Given the description of an element on the screen output the (x, y) to click on. 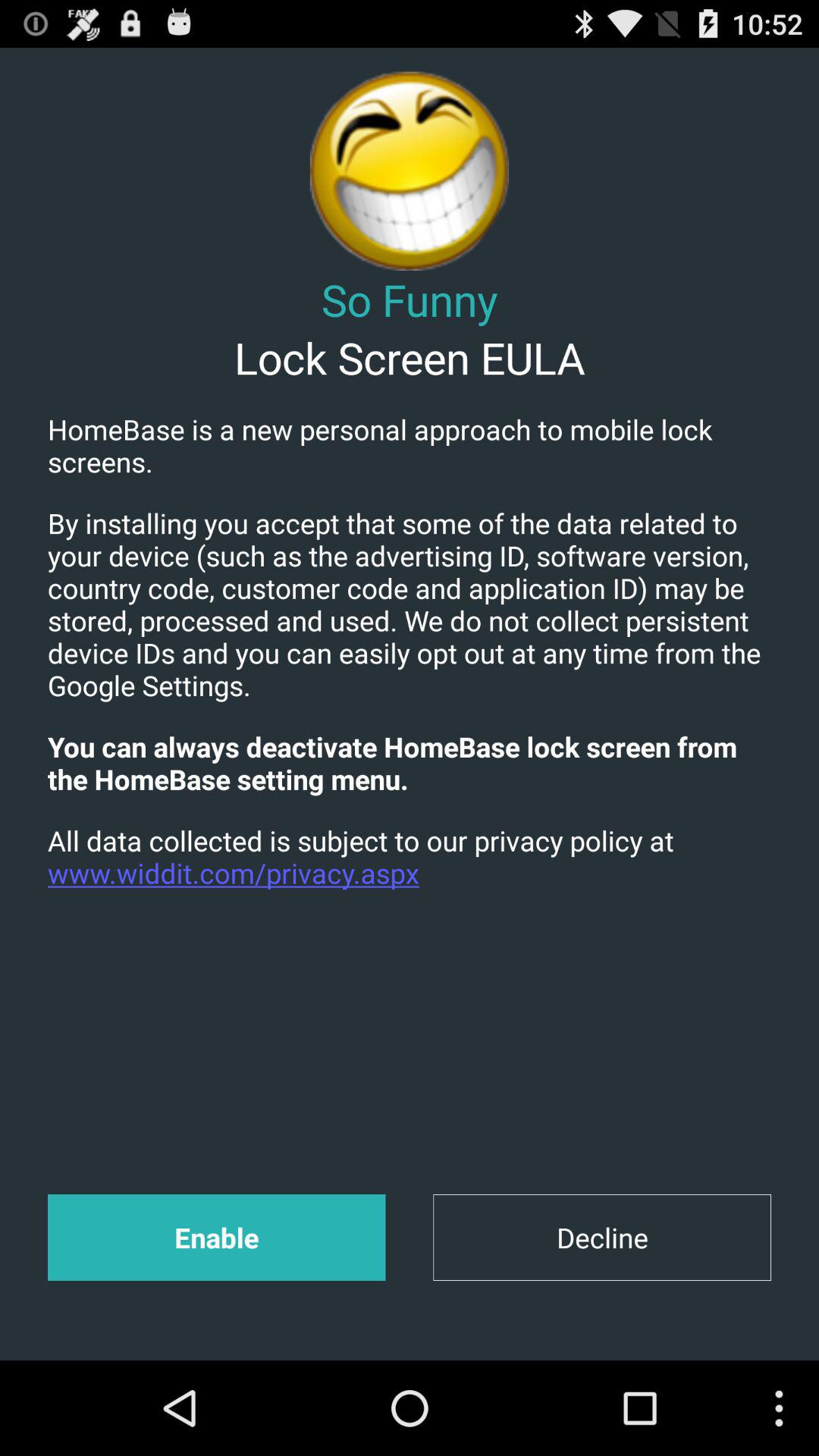
launch the icon above the lock screen eula app (409, 299)
